Given the description of an element on the screen output the (x, y) to click on. 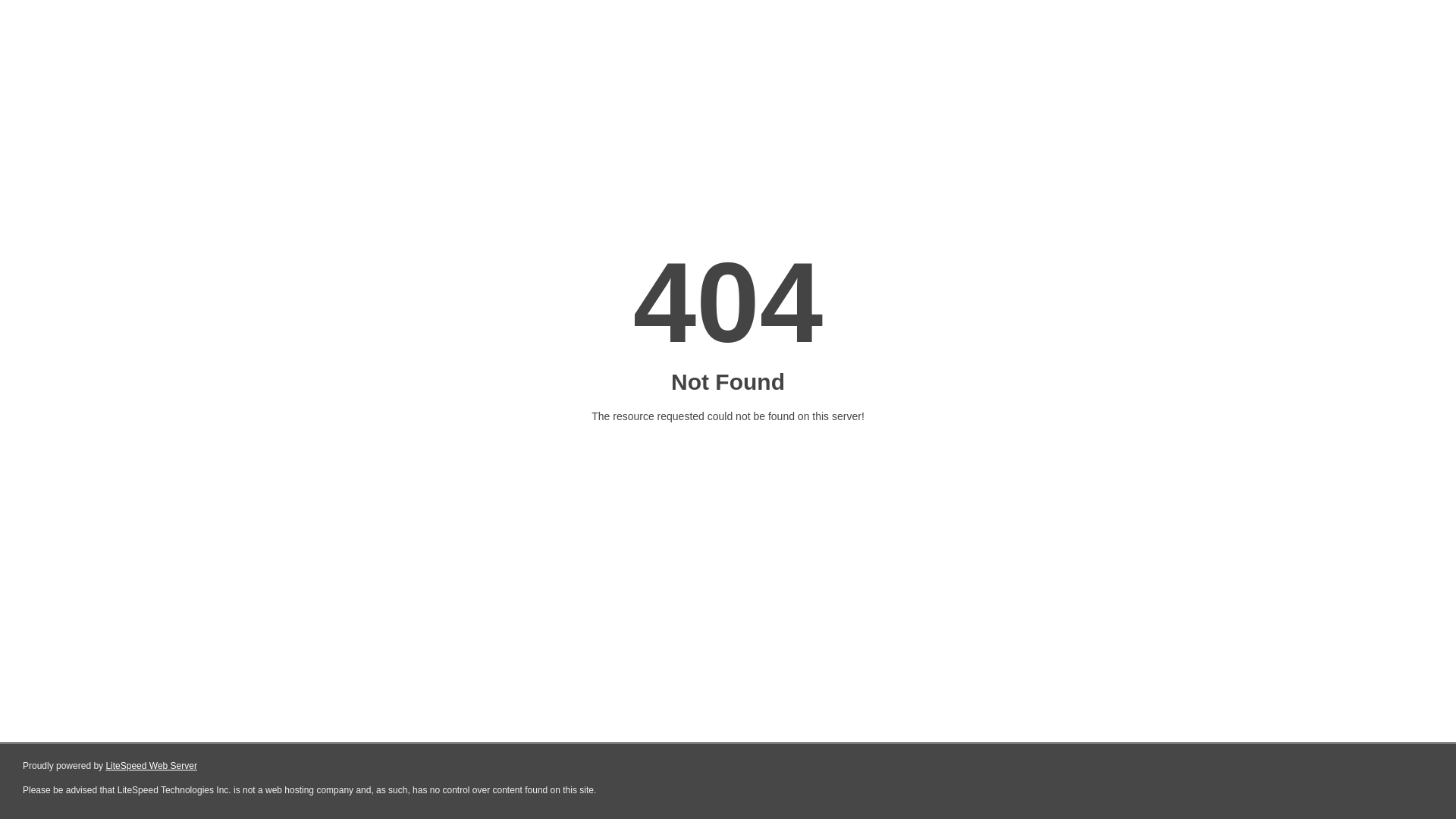
LiteSpeed Web Server Element type: text (151, 765)
